Given the description of an element on the screen output the (x, y) to click on. 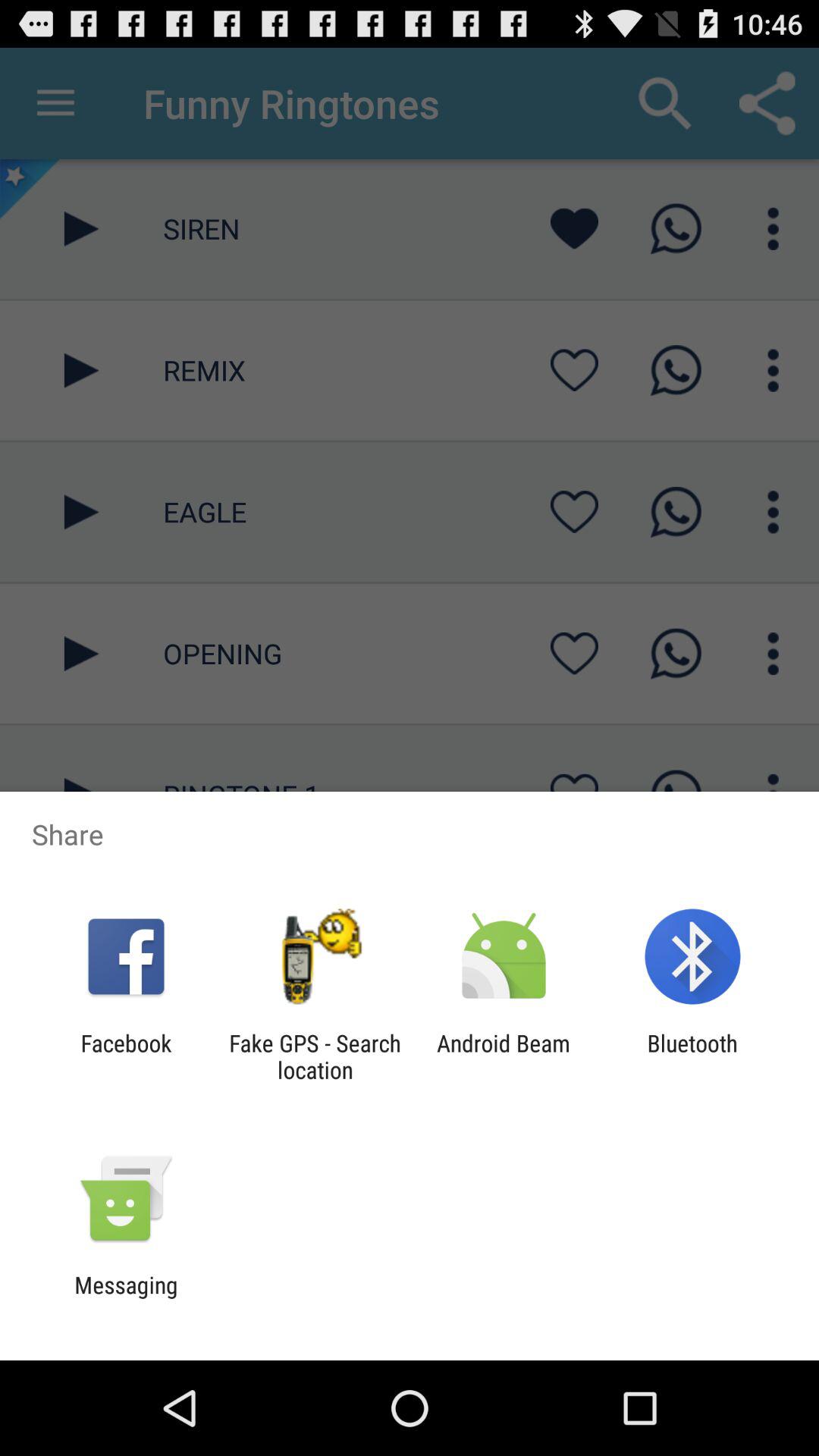
click the app to the left of bluetooth app (503, 1056)
